Given the description of an element on the screen output the (x, y) to click on. 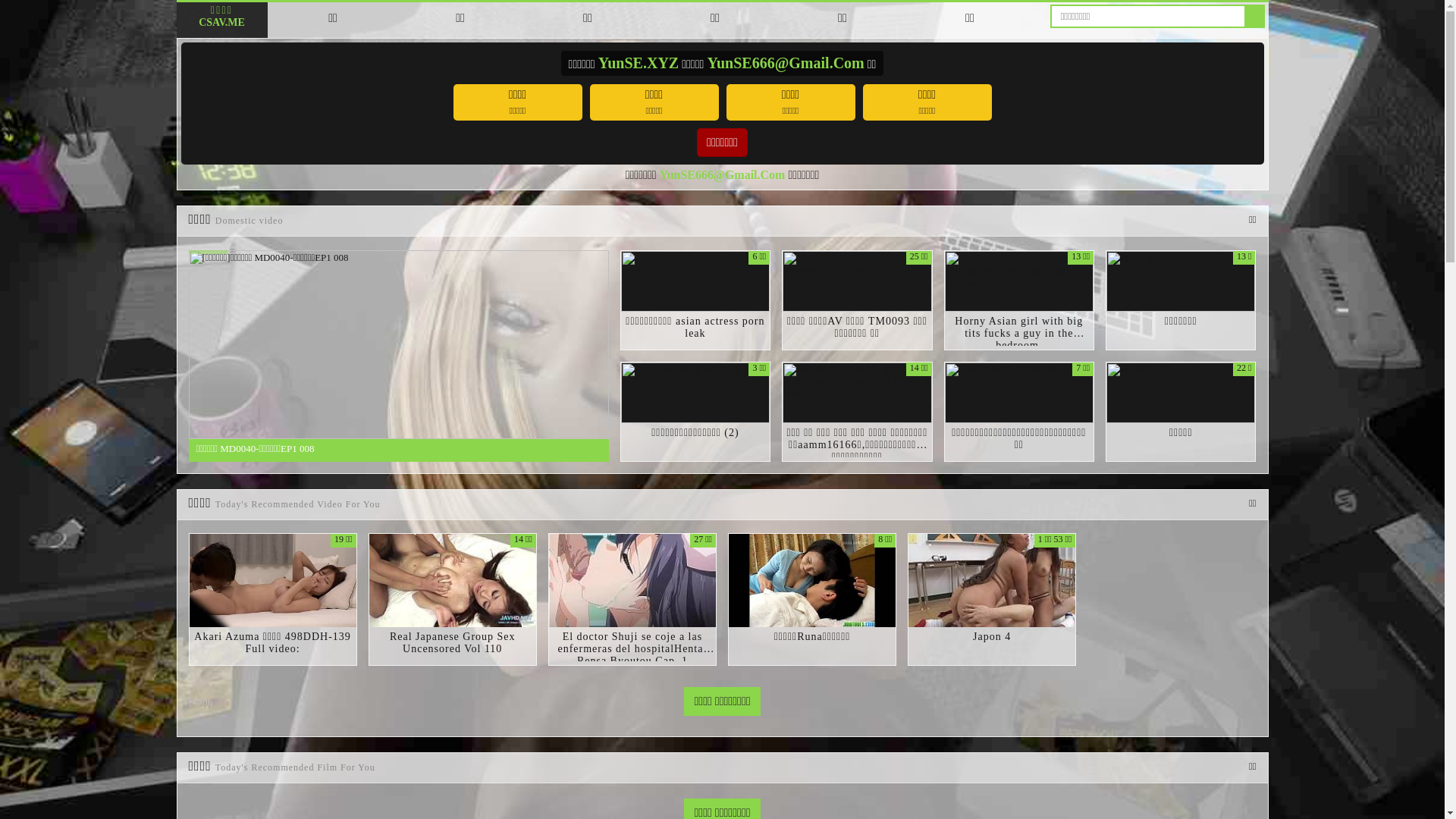
Real Japanese Group Sex Uncensored Vol 110 Element type: text (452, 642)
Horny Asian girl with big tits fucks a guy in the bedroom. Element type: text (1018, 333)
Japon 4 Element type: text (991, 636)
